Given the description of an element on the screen output the (x, y) to click on. 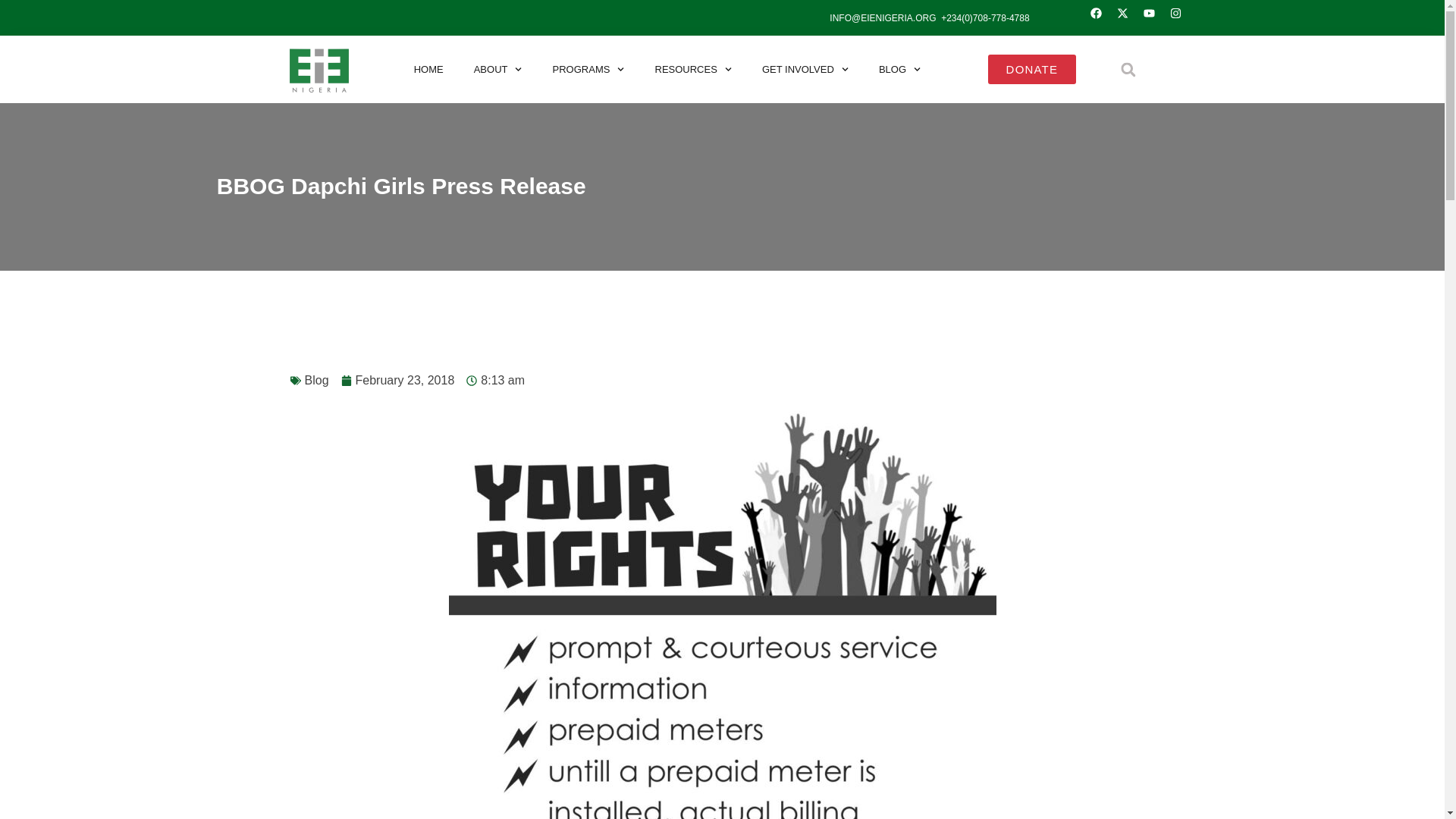
ABOUT (497, 68)
RESOURCES (693, 68)
GET INVOLVED (804, 68)
PROGRAMS (588, 68)
BLOG (899, 68)
HOME (428, 68)
